Given the description of an element on the screen output the (x, y) to click on. 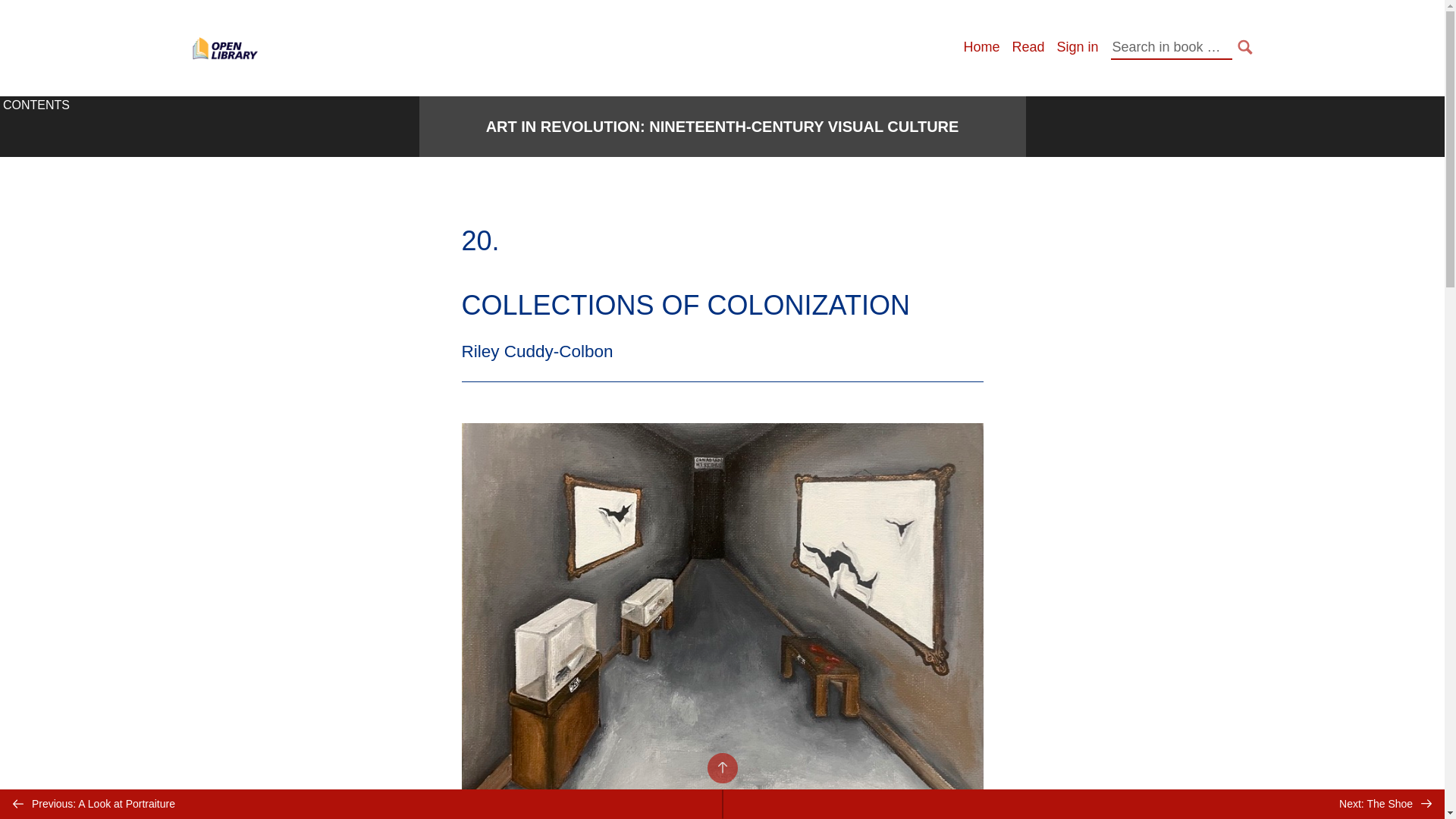
Home (980, 46)
ART IN REVOLUTION: NINETEENTH-CENTURY VISUAL CULTURE (722, 126)
Read (1027, 46)
Previous: A Look at Portraiture (361, 804)
Previous: A Look at Portraiture (361, 804)
BACK TO TOP (721, 767)
Sign in (1077, 46)
